Given the description of an element on the screen output the (x, y) to click on. 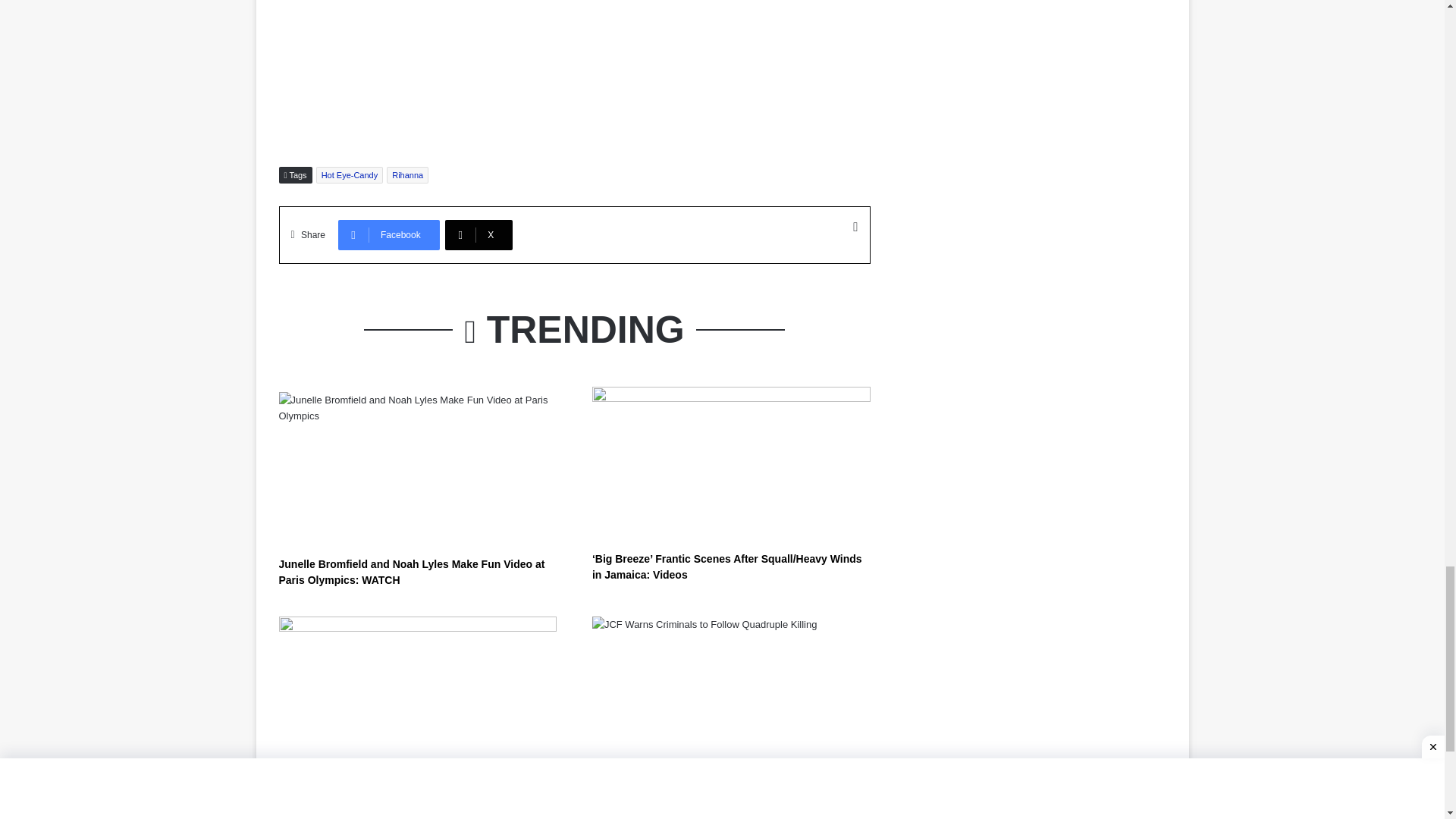
Hot Eye-Candy (349, 175)
Facebook (388, 235)
Rihanna (407, 175)
X (478, 235)
